Given the description of an element on the screen output the (x, y) to click on. 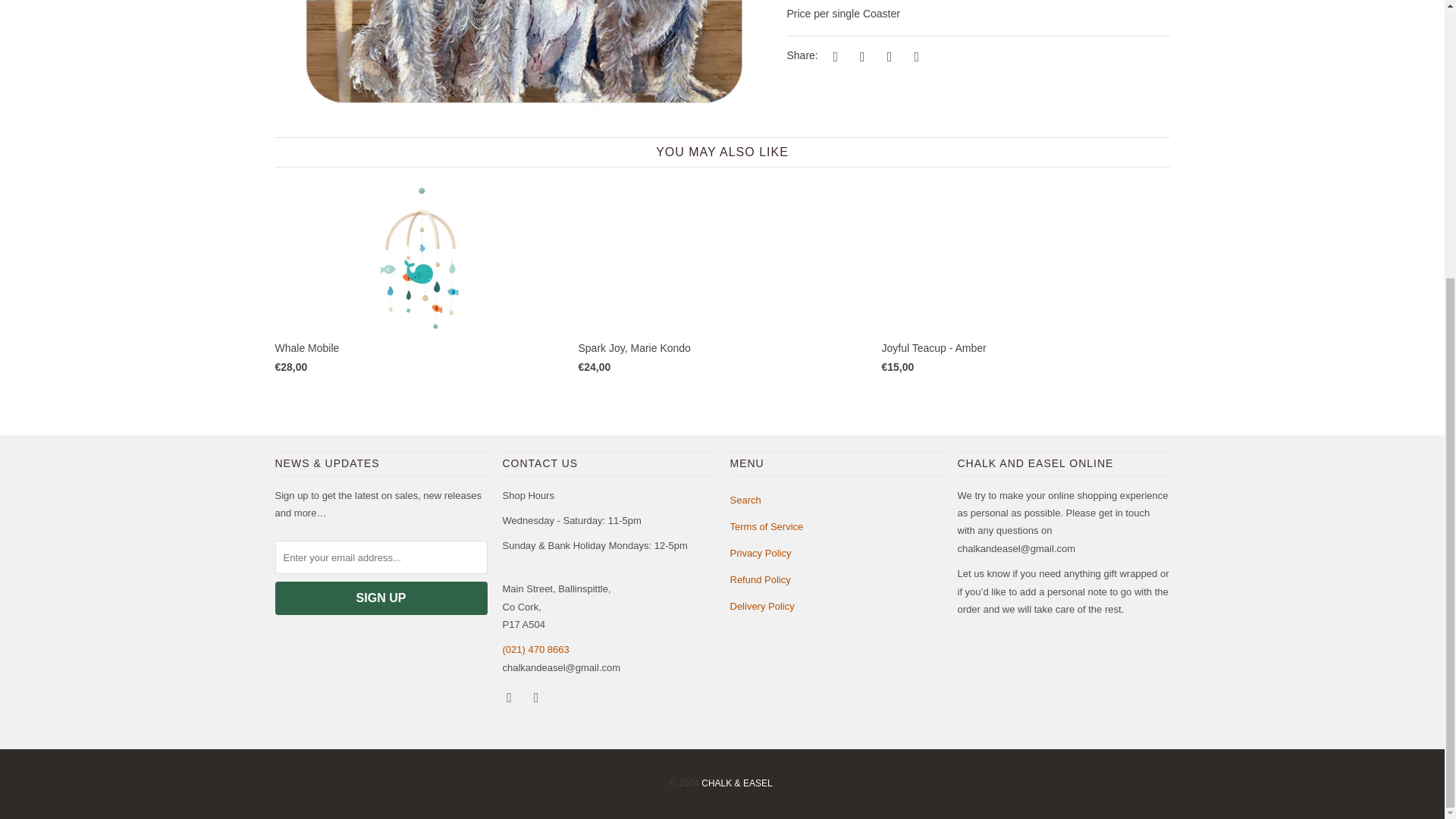
Share this on Twitter (833, 55)
Share this on Pinterest (887, 55)
Share this on Facebook (859, 55)
Email this to a friend (914, 55)
Little Dog Laughed Coaster - Help yourself (523, 64)
Sign Up (380, 598)
